Given the description of an element on the screen output the (x, y) to click on. 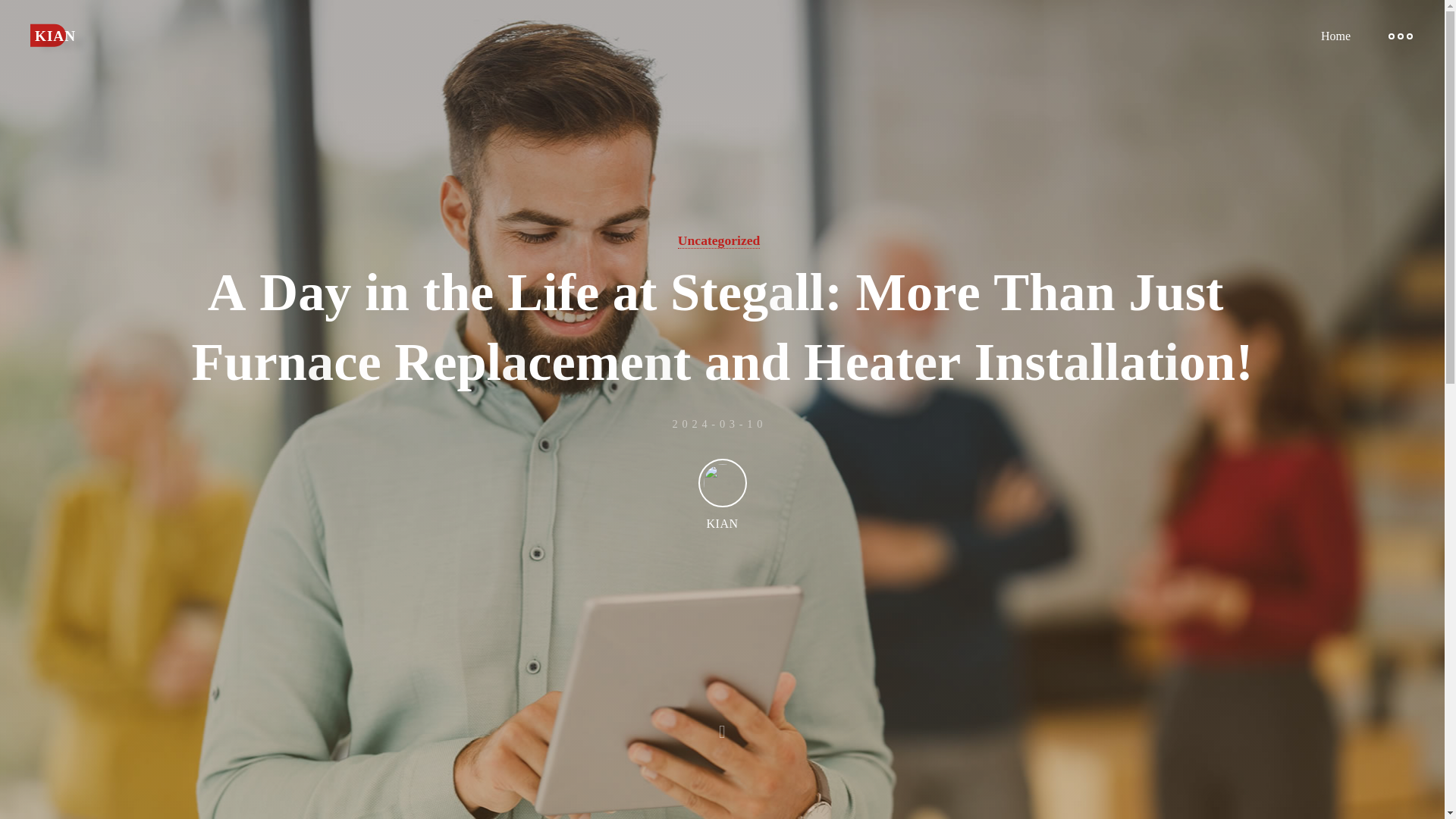
Home (1335, 35)
Read more (721, 724)
KIAN (56, 35)
Uncategorized (719, 240)
Kansas Industrial Association of New Construction (56, 35)
